Given the description of an element on the screen output the (x, y) to click on. 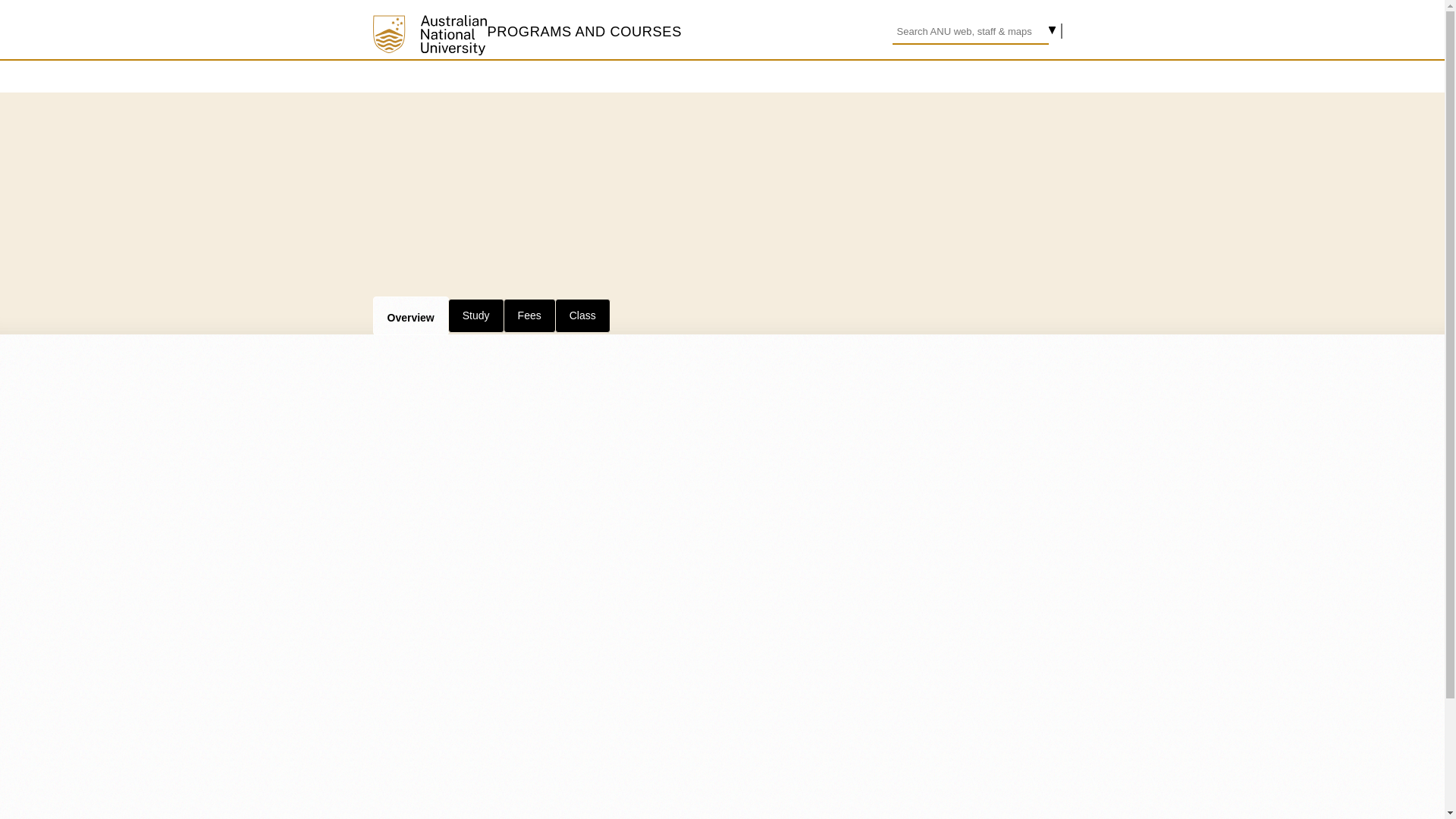
Class (582, 315)
Overview (410, 315)
Fees (529, 315)
PROGRAMS AND COURSES (583, 31)
Study (475, 315)
